Given the description of an element on the screen output the (x, y) to click on. 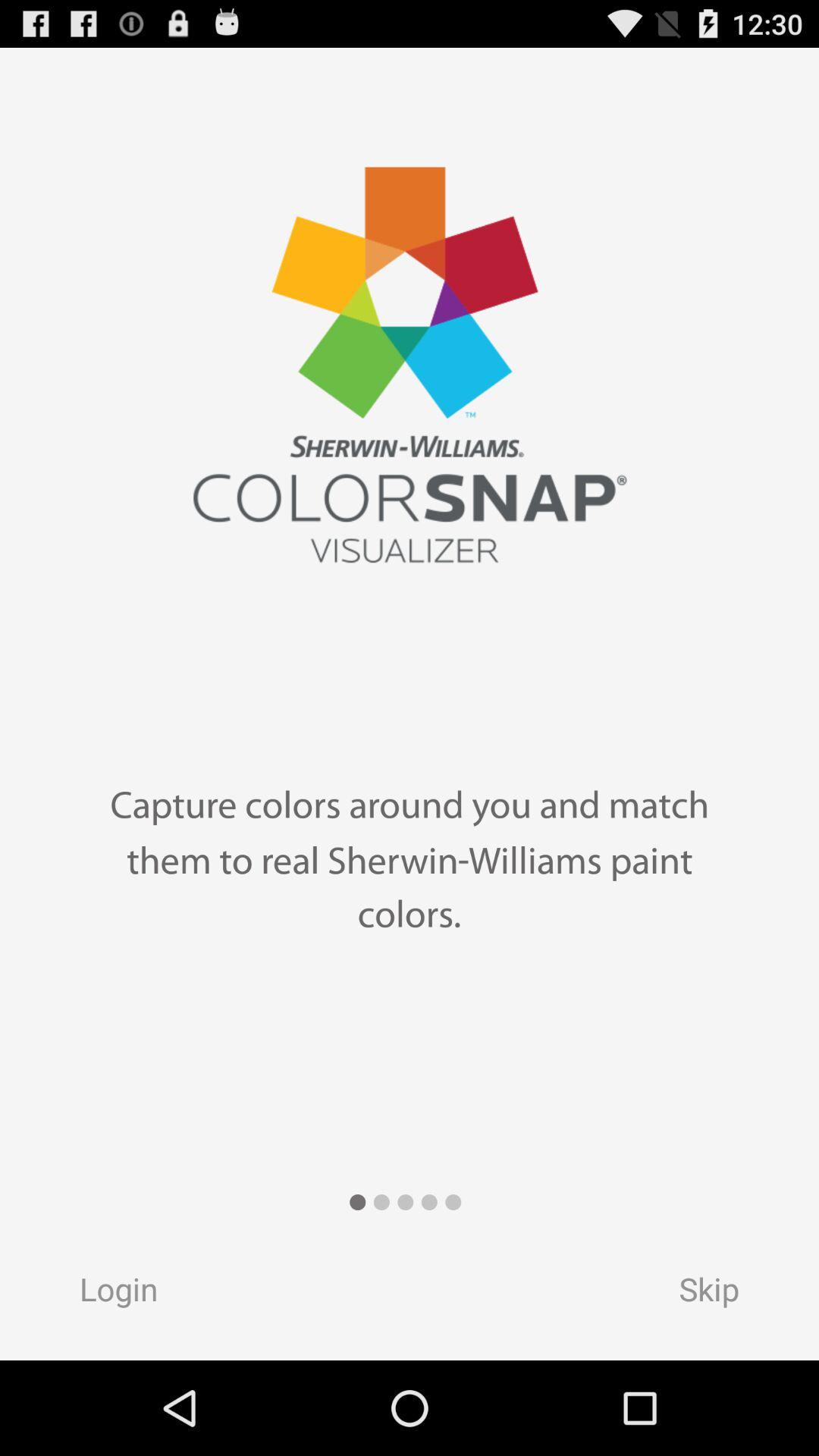
press the item at the bottom left corner (104, 1293)
